Given the description of an element on the screen output the (x, y) to click on. 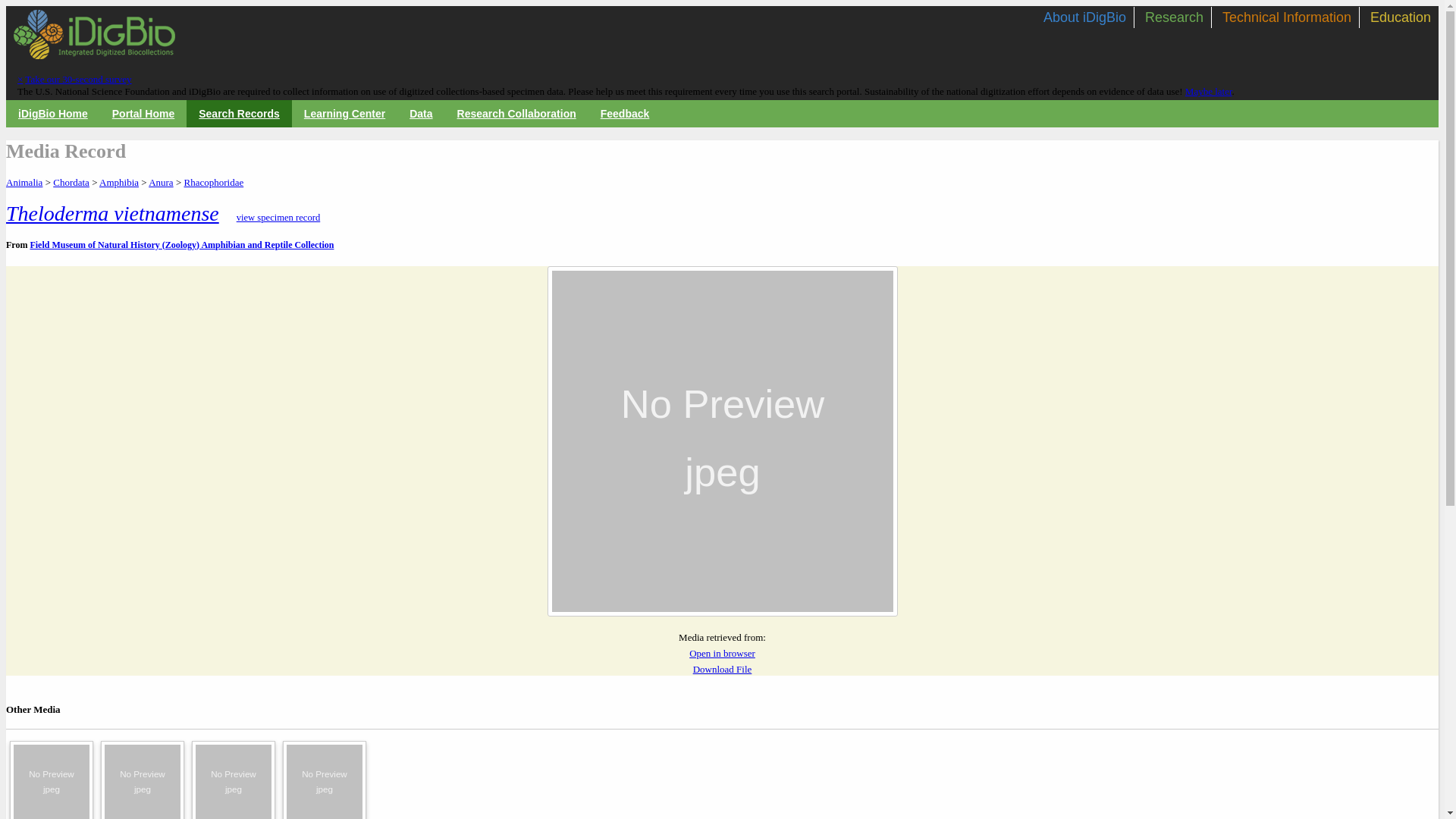
SEARCH MEDIA kingdom: animalia, phylum: chordata (70, 182)
Rhacophoridae (213, 182)
About iDigBio (1084, 17)
Amphibia (118, 182)
Research Collaboration (516, 113)
Maybe later (1208, 91)
Chordata (70, 182)
Feedback (624, 113)
SEARCH MEDIA kingdom: animalia (23, 182)
Research (1174, 17)
Learning Center (344, 113)
Portal Home (143, 113)
iDigBio Home (52, 113)
Anura (160, 182)
Take our 30-second survey (77, 79)
